Given the description of an element on the screen output the (x, y) to click on. 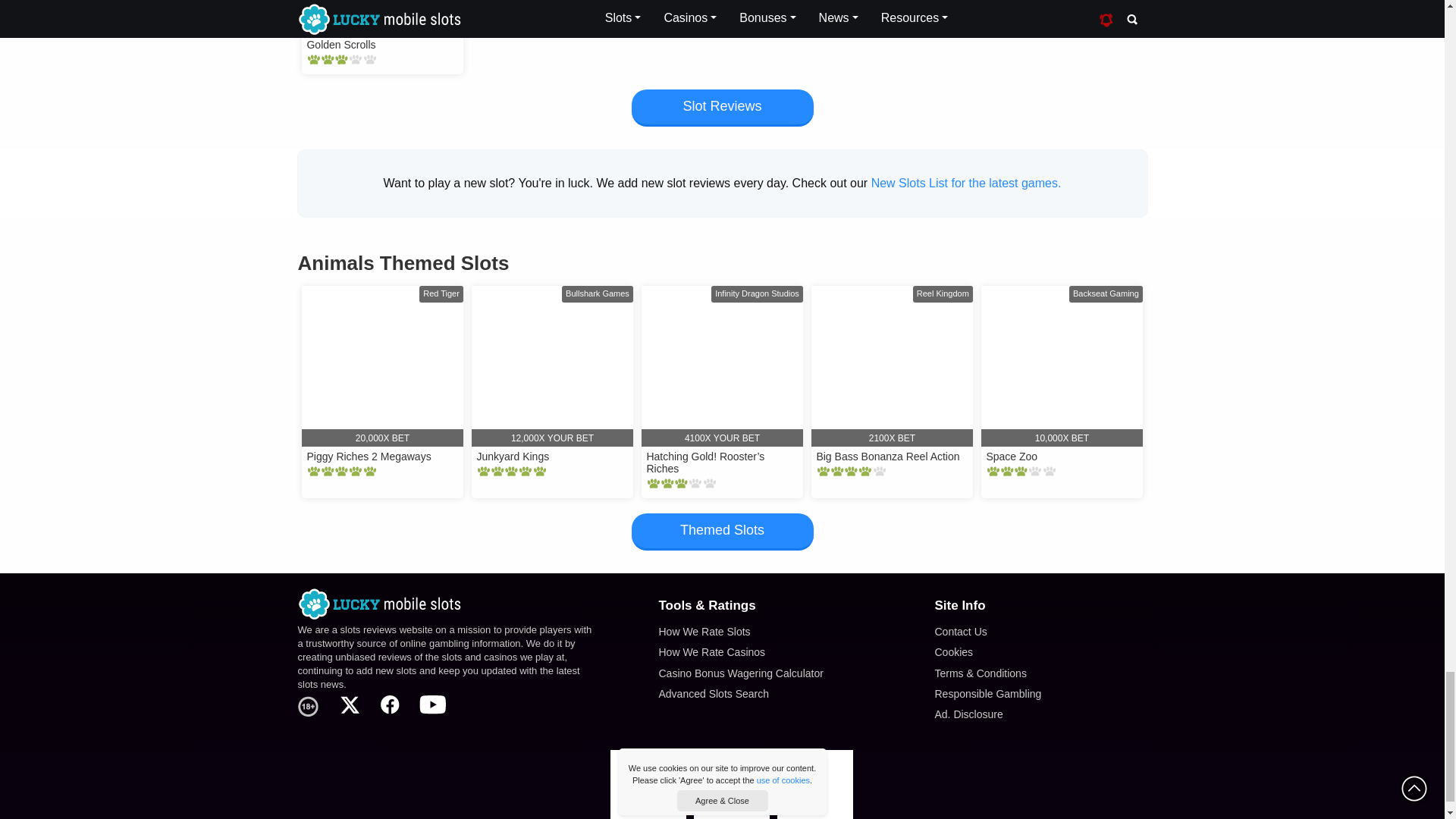
Home of Lucky Mobile Slots (445, 603)
